Given the description of an element on the screen output the (x, y) to click on. 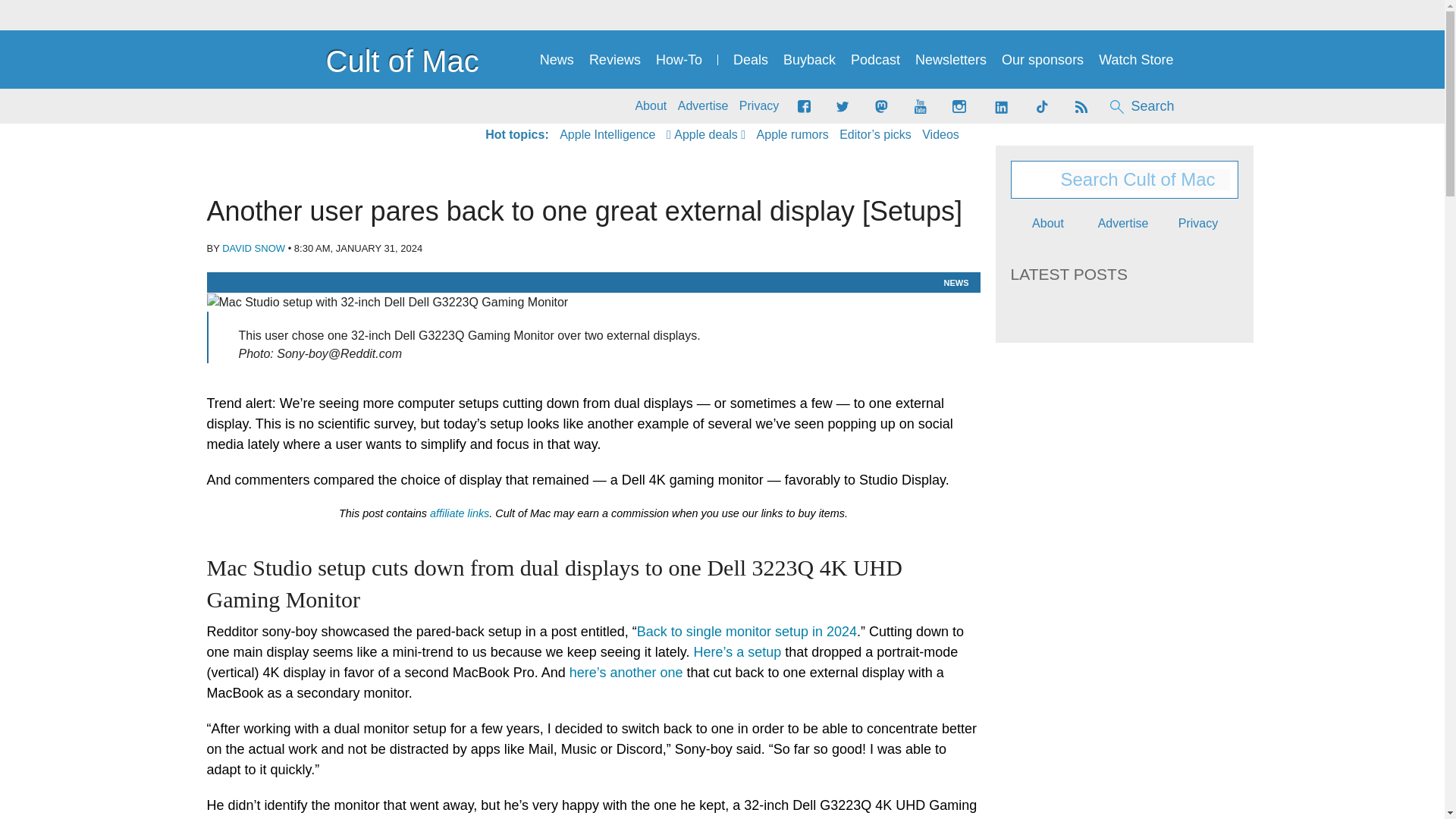
Our sponsors (1042, 59)
Apple rumors (792, 134)
News (556, 59)
Buyback (809, 59)
Hot topics: (516, 134)
Watch Store (1135, 59)
Apple legal battles (792, 134)
Reviews (613, 59)
Privacy (758, 105)
Videos (940, 134)
Cult of Mac (374, 59)
Deals (750, 59)
About (650, 105)
Videos (940, 134)
Apple Intelligence (607, 134)
